Given the description of an element on the screen output the (x, y) to click on. 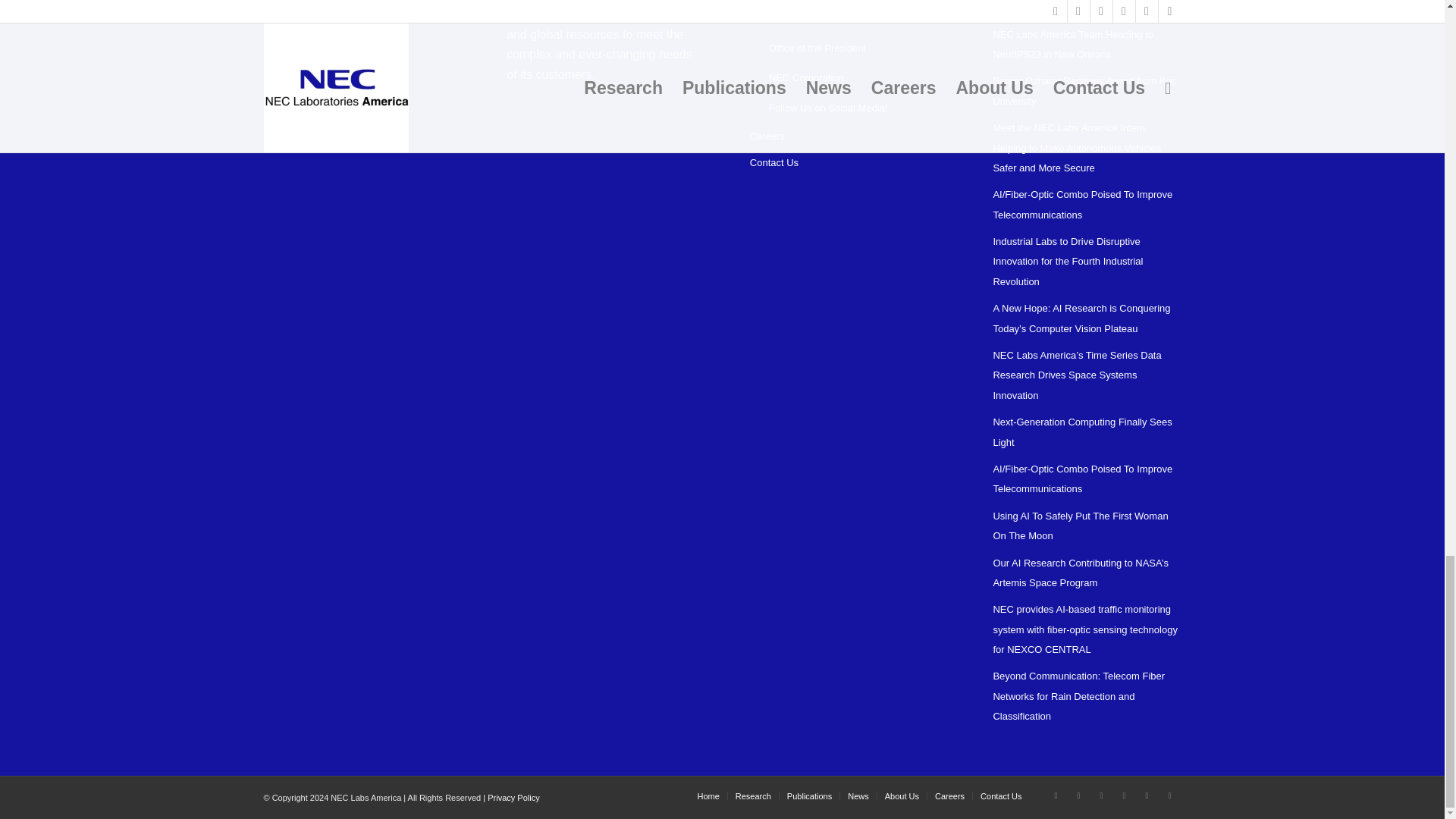
Twitter (1056, 794)
